Given the description of an element on the screen output the (x, y) to click on. 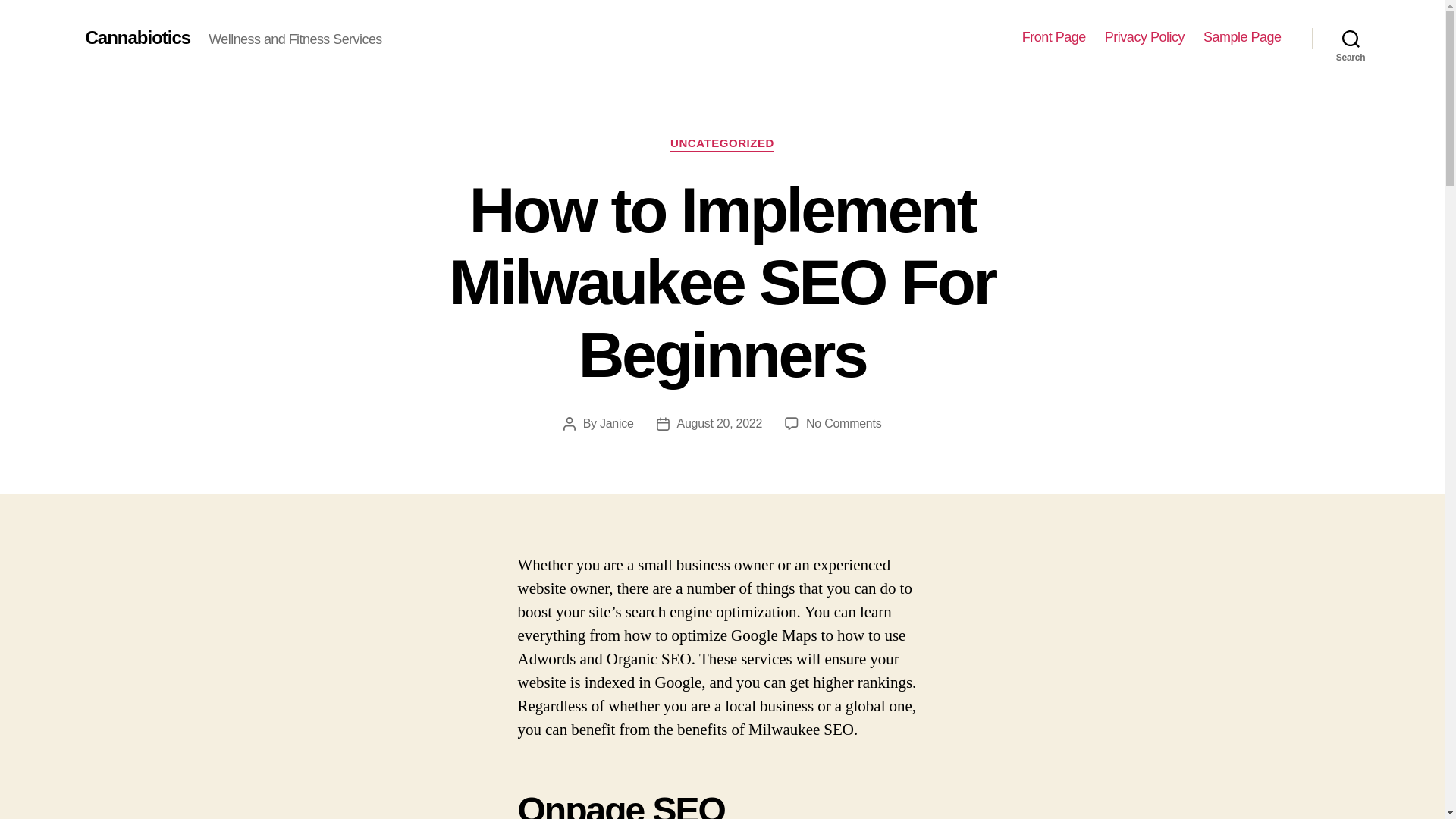
Cannabiotics (137, 37)
Search (1350, 37)
Sample Page (843, 422)
Janice (1242, 37)
August 20, 2022 (616, 422)
Front Page (719, 422)
Privacy Policy (1054, 37)
UNCATEGORIZED (1145, 37)
